Given the description of an element on the screen output the (x, y) to click on. 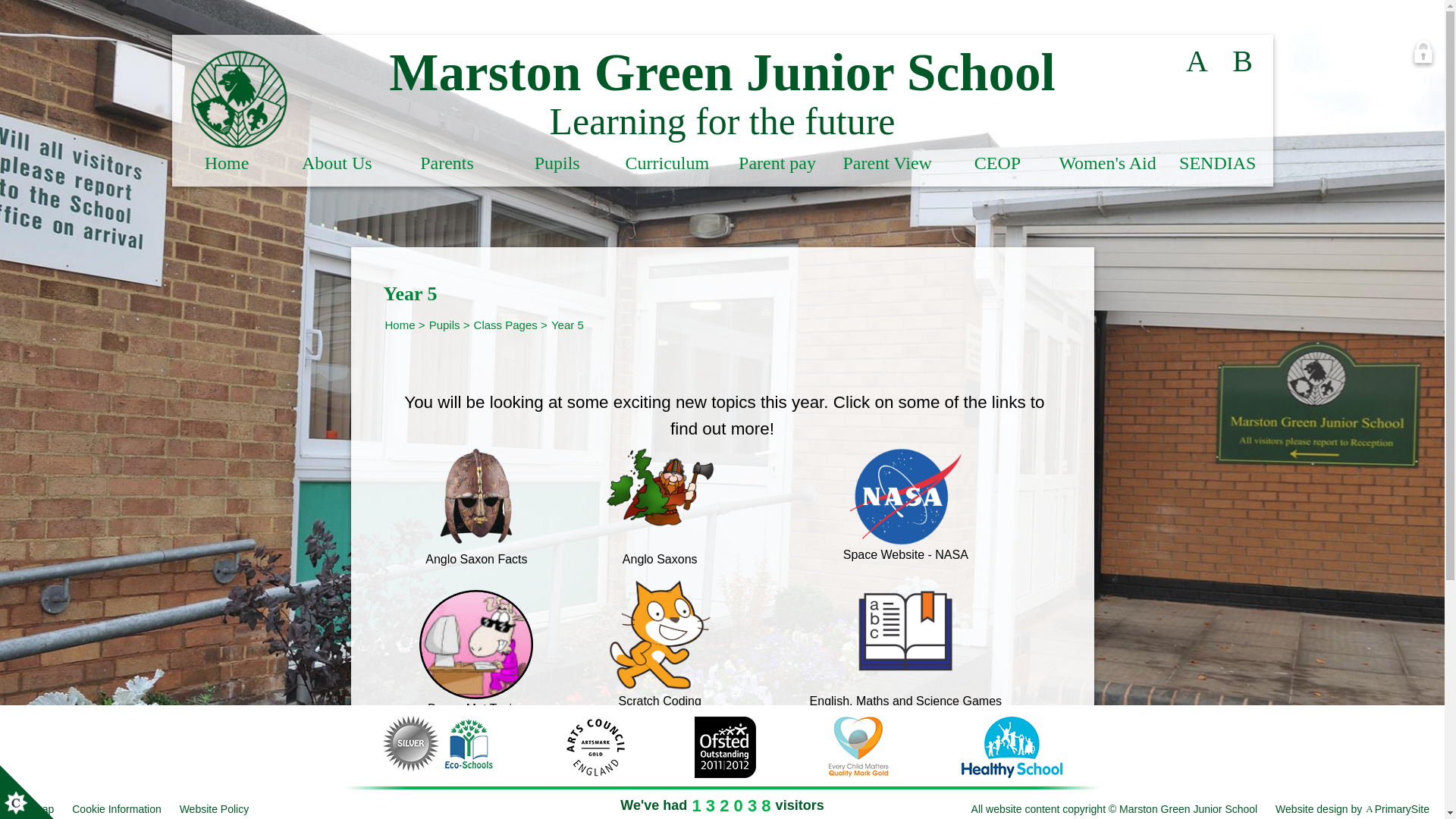
About Us (336, 168)
Home Page (238, 98)
Home (226, 168)
Home Page (238, 98)
